Given the description of an element on the screen output the (x, y) to click on. 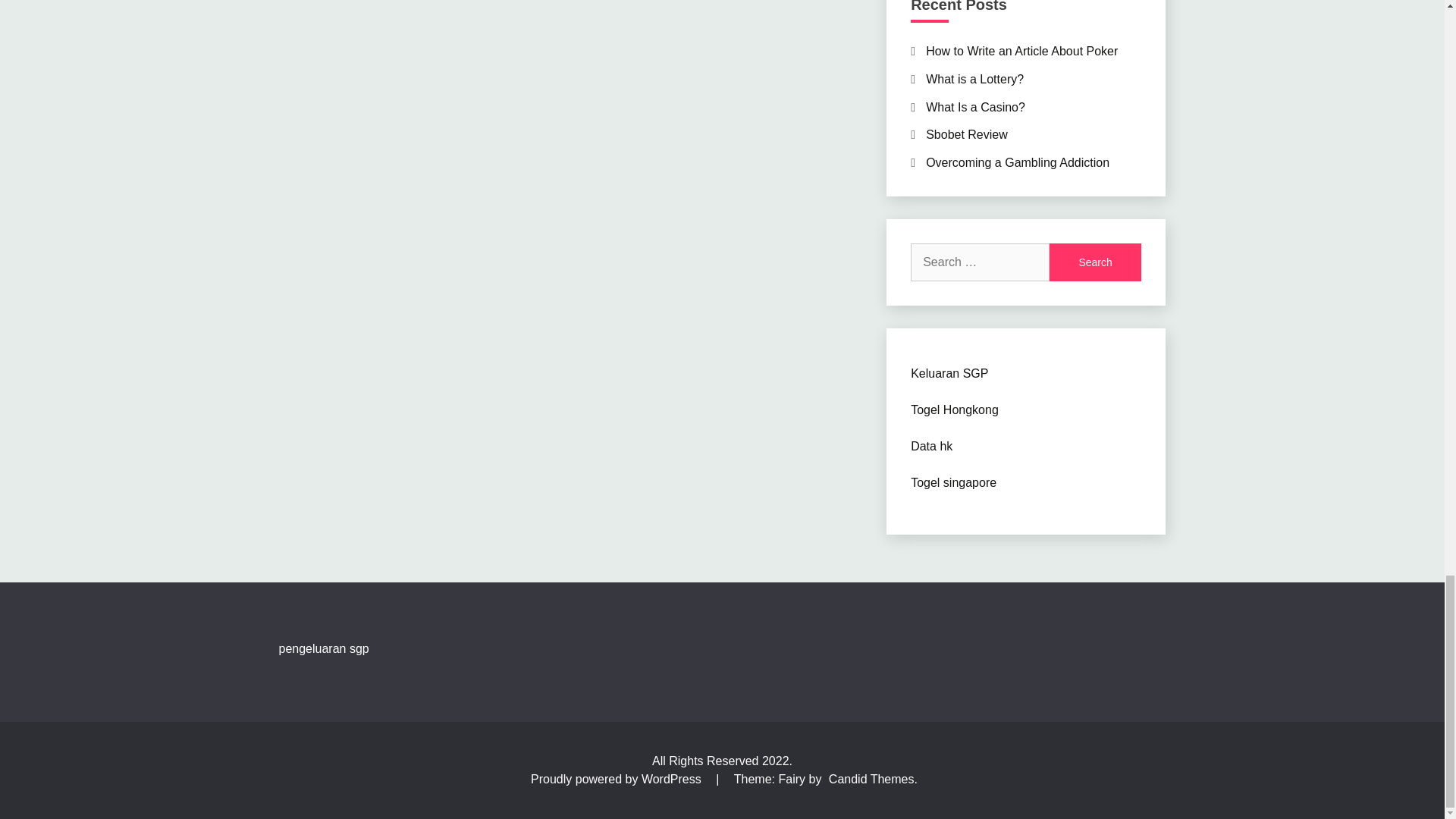
Search (1095, 262)
Search (1095, 262)
